Given the description of an element on the screen output the (x, y) to click on. 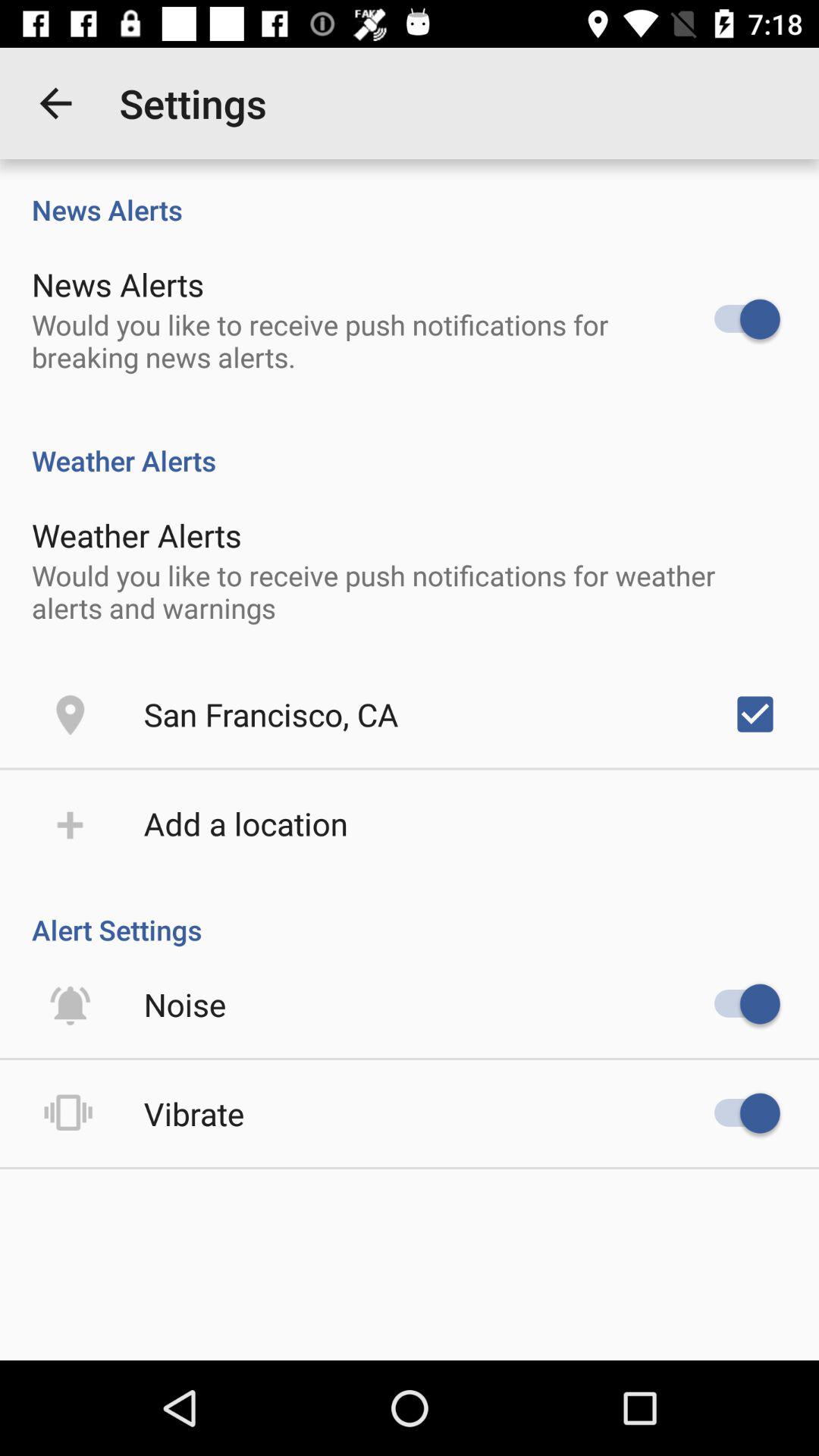
click the item below would you like item (755, 714)
